Given the description of an element on the screen output the (x, y) to click on. 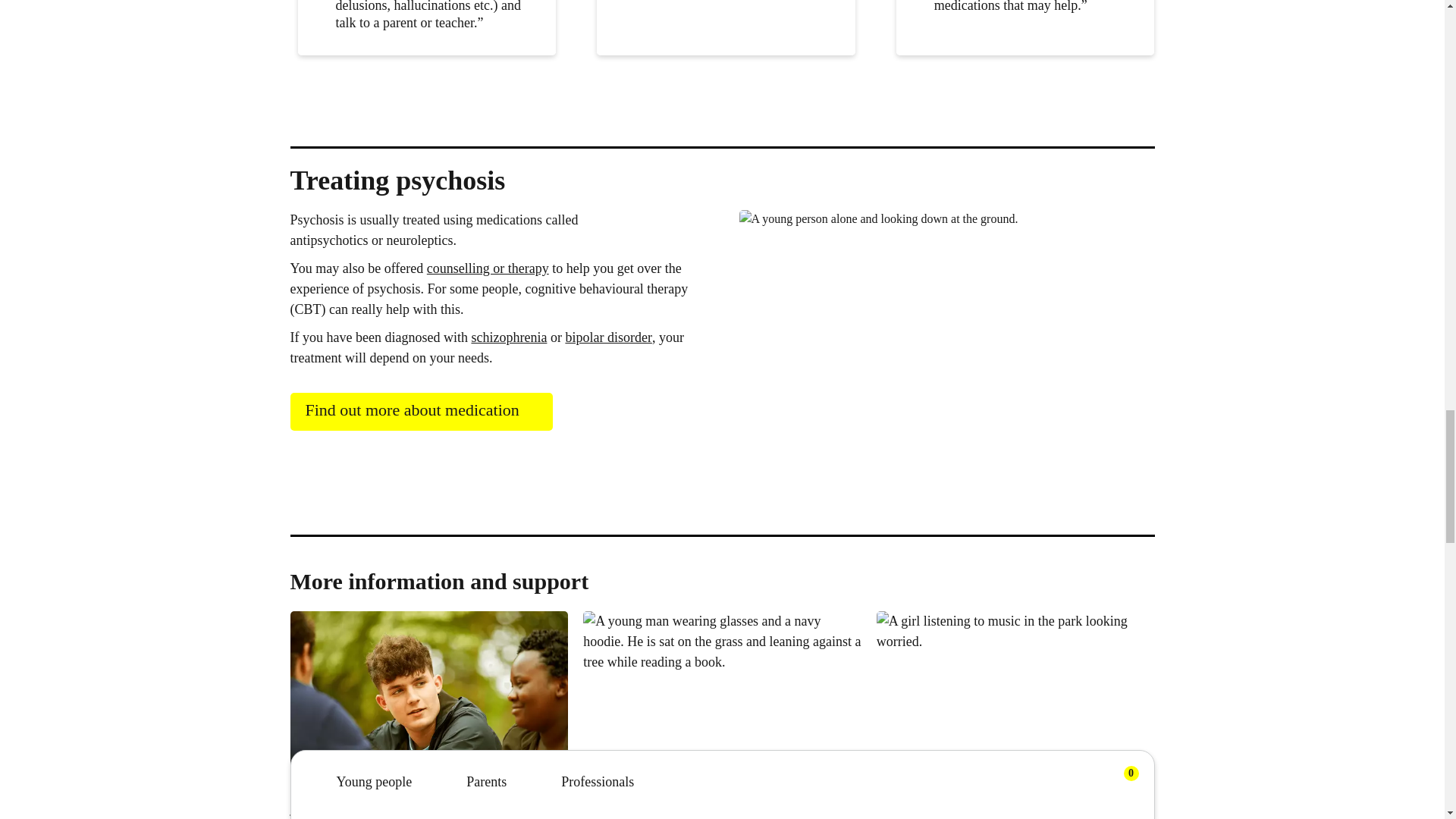
Schizophrenia (508, 337)
Bipolar disorder (652, 806)
counselling or therapy (487, 268)
Bipolar disorder (607, 337)
Find out more about medication (420, 411)
Counselling and therapy (487, 268)
Schizophrenia (349, 806)
Self-harm (918, 806)
schizophrenia (508, 337)
bipolar disorder (607, 337)
